Given the description of an element on the screen output the (x, y) to click on. 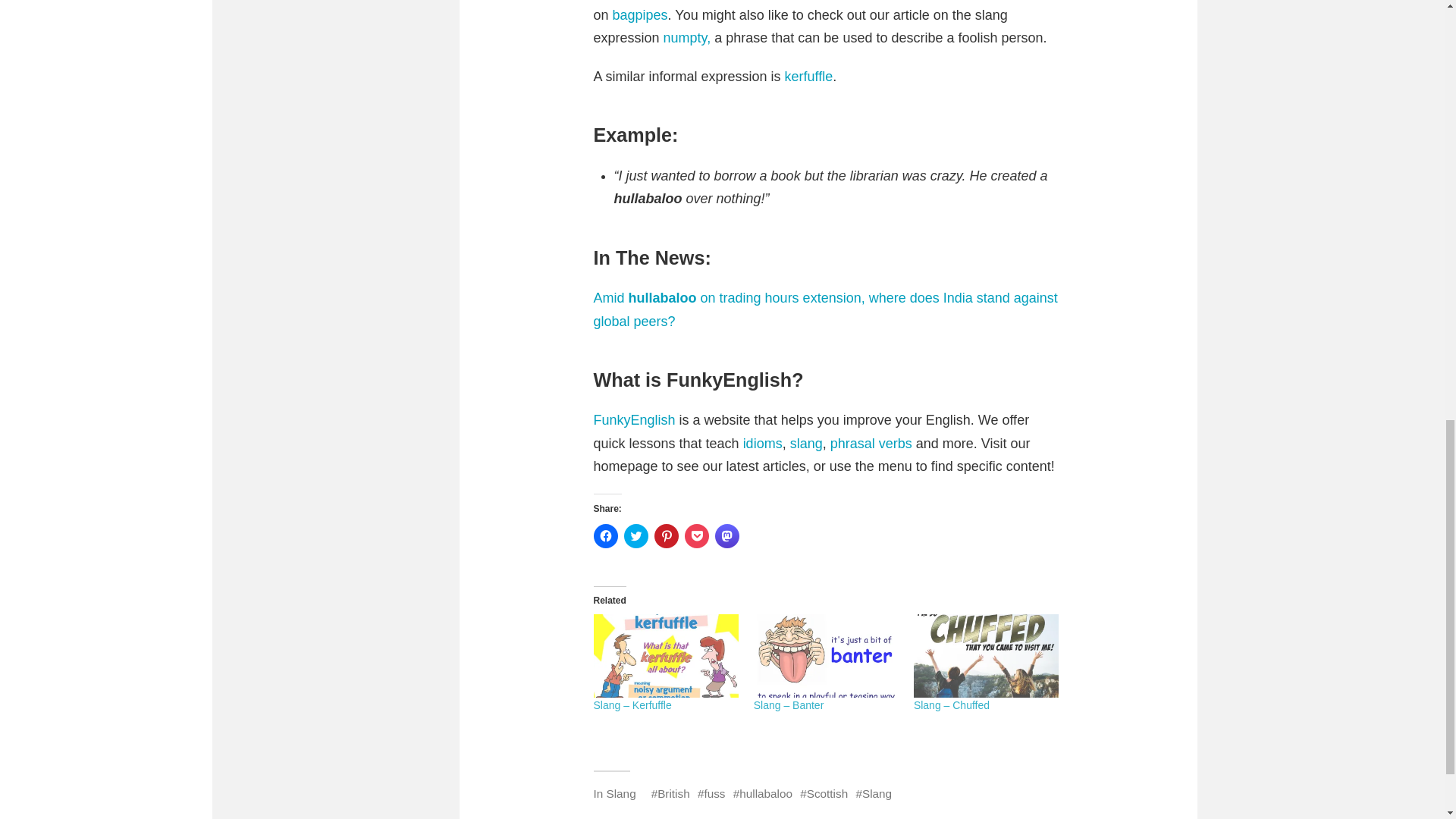
FunkyEnglish (633, 419)
Click to share on Pocket (695, 535)
bagpipes (640, 14)
kerfuffle (808, 76)
Click to share on Mastodon (726, 535)
Click to share on Facebook (604, 535)
Click to share on Twitter (635, 535)
numpty, (687, 37)
Click to share on Pinterest (665, 535)
